Given the description of an element on the screen output the (x, y) to click on. 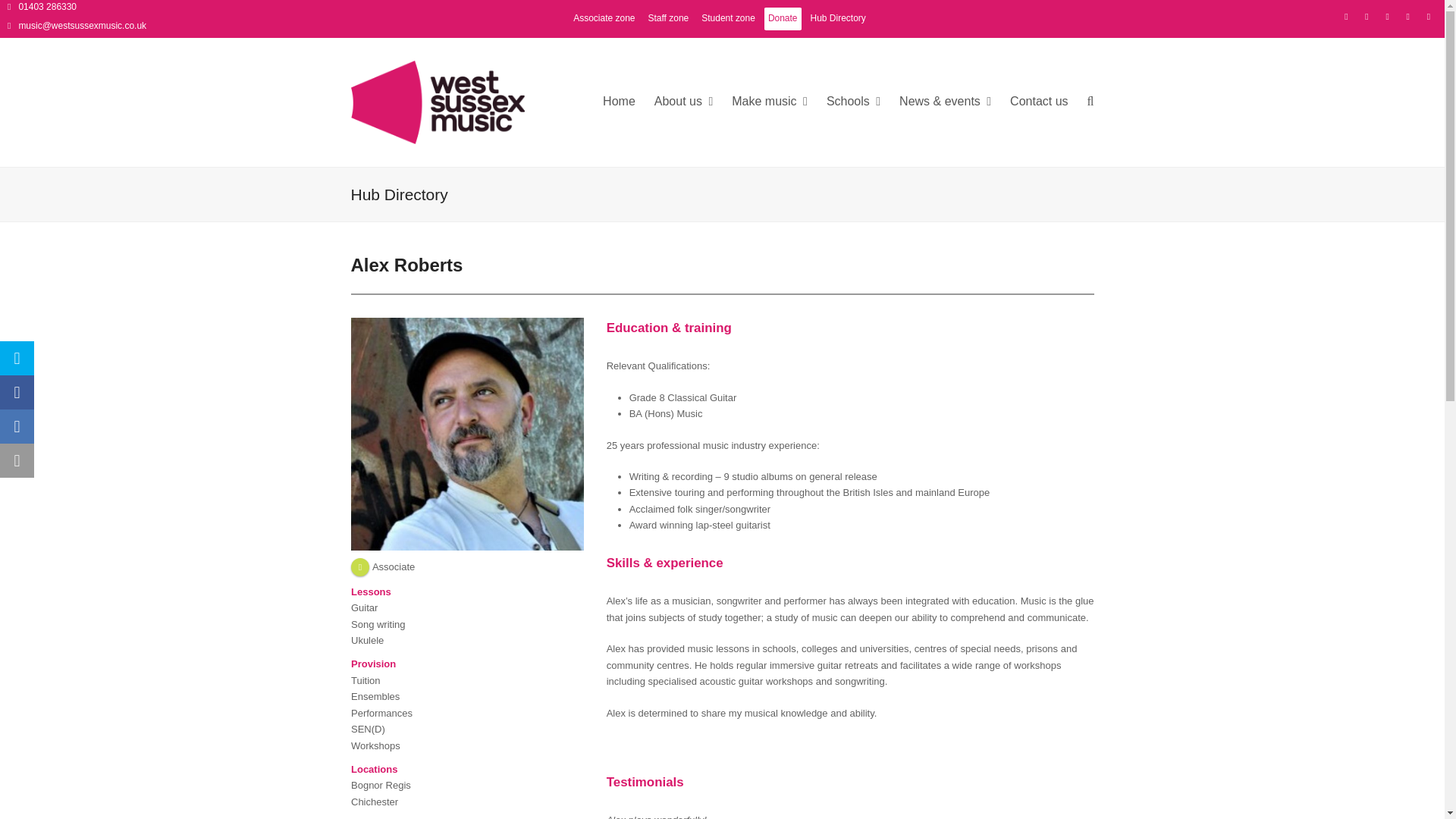
About us (683, 102)
Student zone (727, 18)
Make music (770, 102)
Donate (783, 18)
Twitter (1346, 16)
Linkedin (1407, 16)
Staff zone (668, 18)
Schools (853, 102)
Hub Directory (837, 18)
Associate zone (604, 18)
Facebook (1366, 16)
Alex (466, 433)
Instagram (1387, 16)
Youtube (1429, 16)
